Given the description of an element on the screen output the (x, y) to click on. 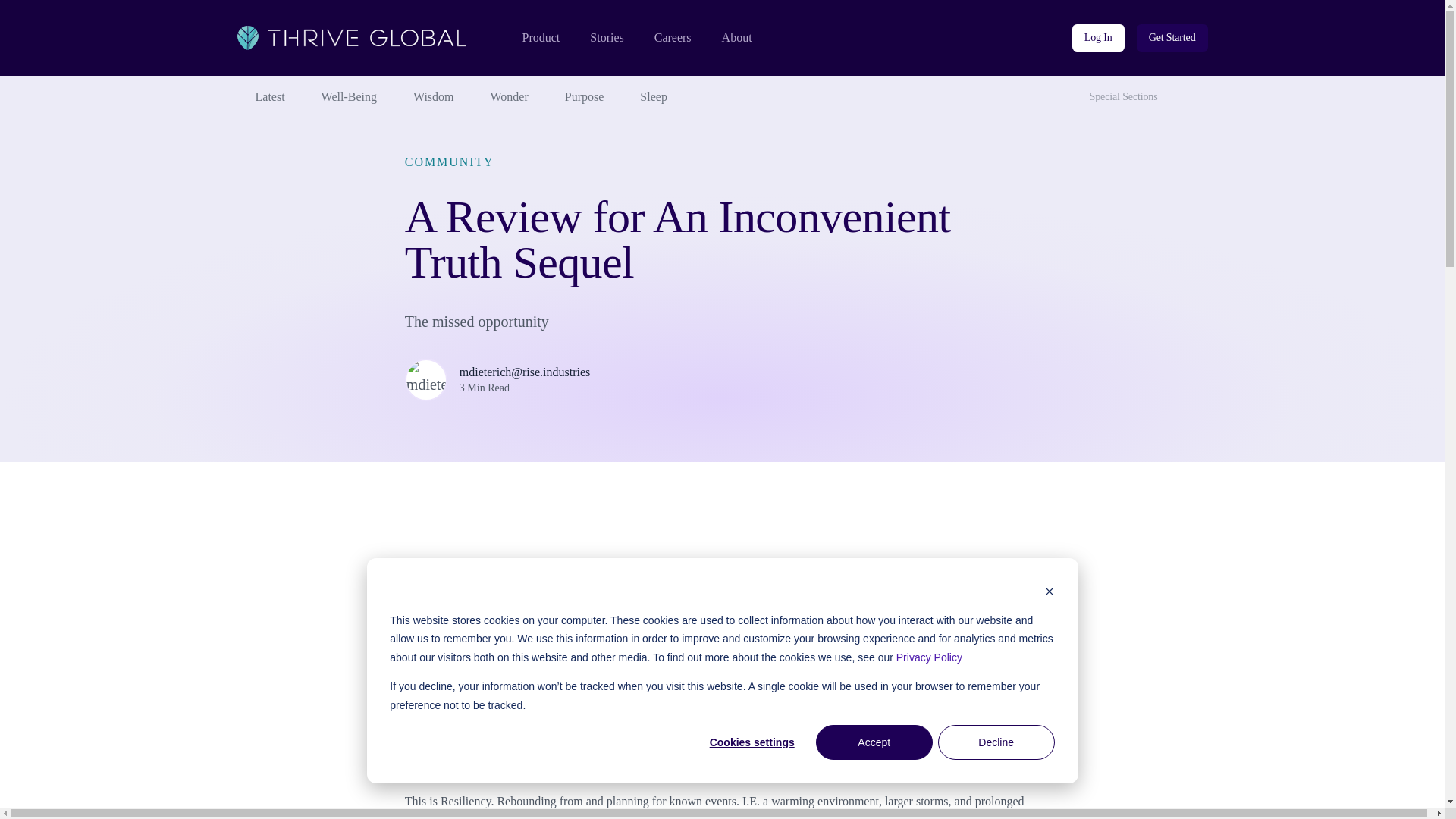
Sleep (653, 96)
Stories (606, 37)
Well-Being (348, 96)
Special Sections (1126, 97)
Latest (268, 96)
Log In (1097, 37)
About (737, 37)
Product (540, 37)
Wonder (509, 96)
Purpose (585, 96)
Careers (672, 37)
Search site (1193, 91)
Get Started (1172, 37)
Wisdom (432, 96)
